Given the description of an element on the screen output the (x, y) to click on. 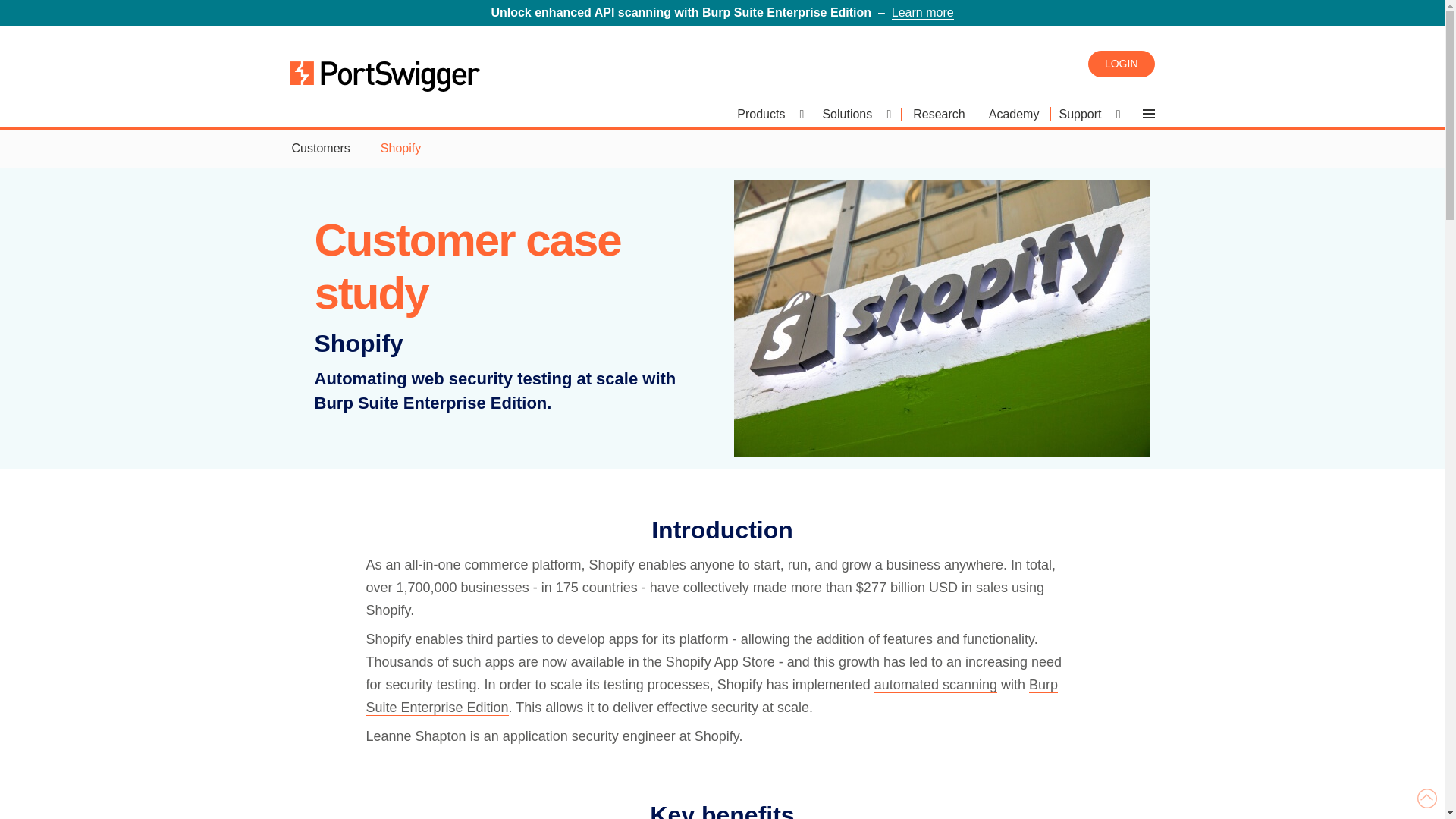
Research (938, 114)
Academy (1013, 114)
LOGIN (1120, 62)
